Given the description of an element on the screen output the (x, y) to click on. 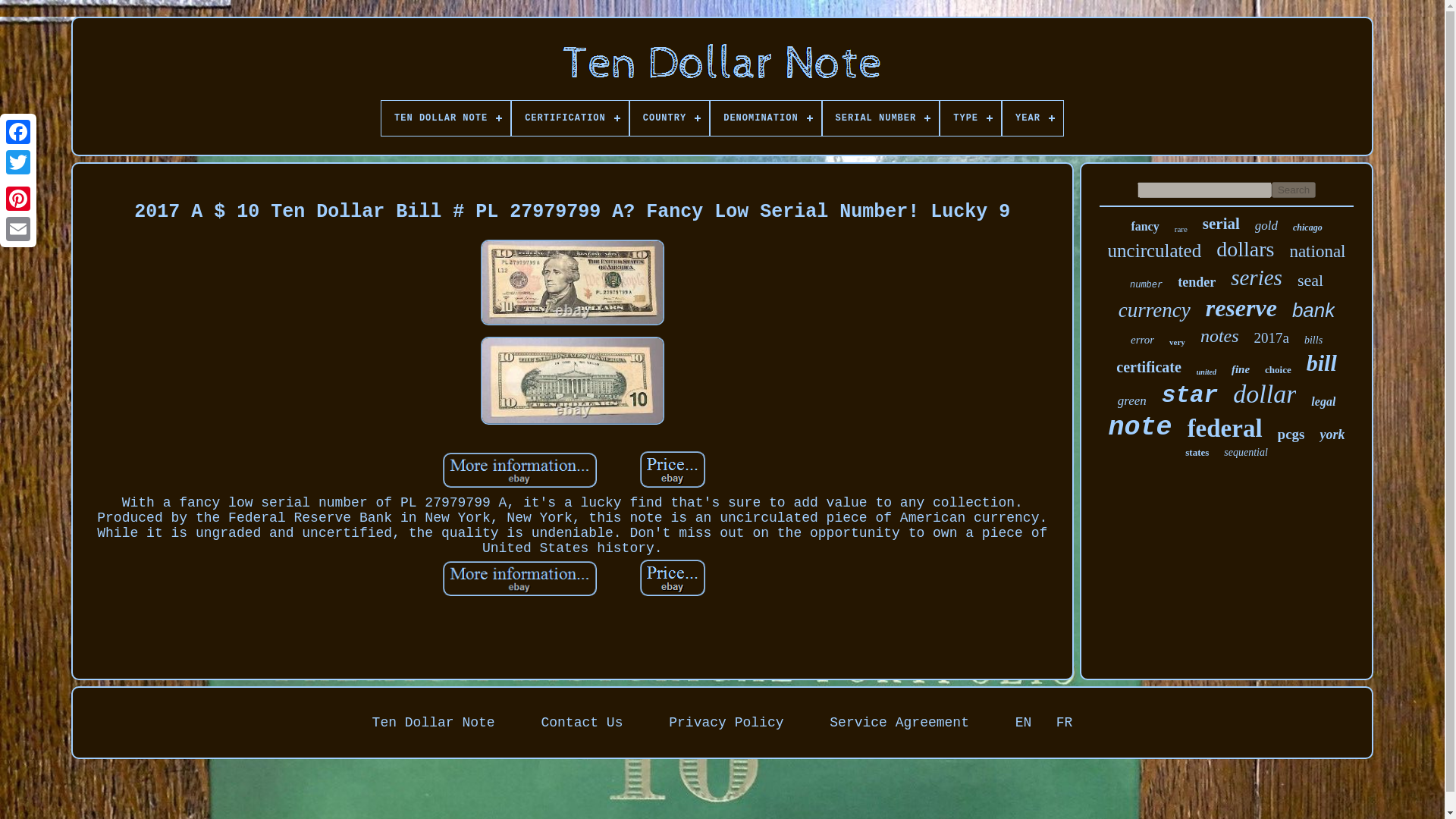
CERTIFICATION (570, 117)
SERIAL NUMBER (880, 117)
Search (1293, 189)
COUNTRY (669, 117)
DENOMINATION (765, 117)
TEN DOLLAR NOTE (446, 117)
TYPE (970, 117)
